Given the description of an element on the screen output the (x, y) to click on. 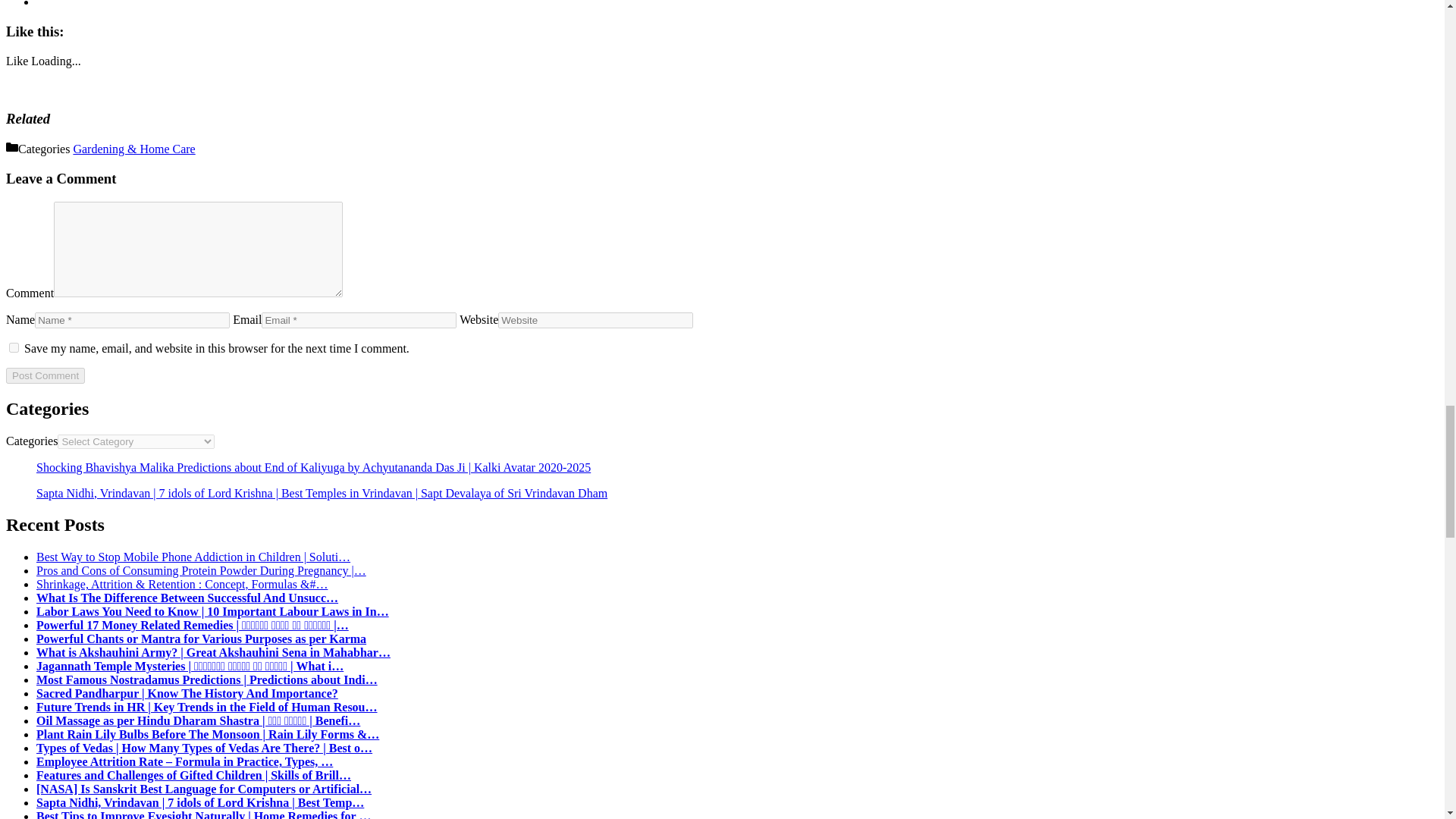
Post Comment (44, 375)
yes (13, 347)
Post Comment (44, 375)
